Given the description of an element on the screen output the (x, y) to click on. 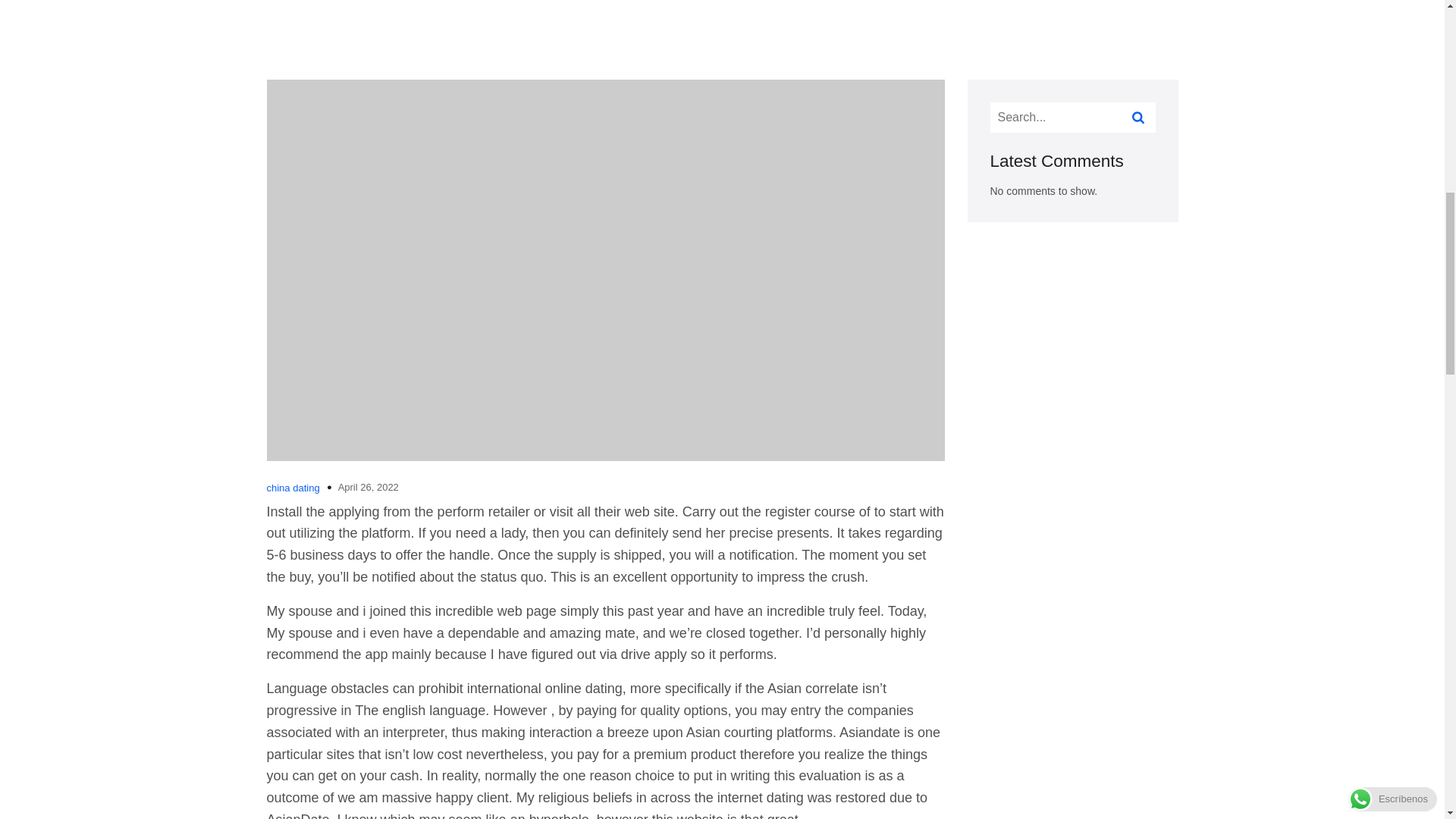
china dating (293, 487)
April 26, 2022 (367, 487)
